Given the description of an element on the screen output the (x, y) to click on. 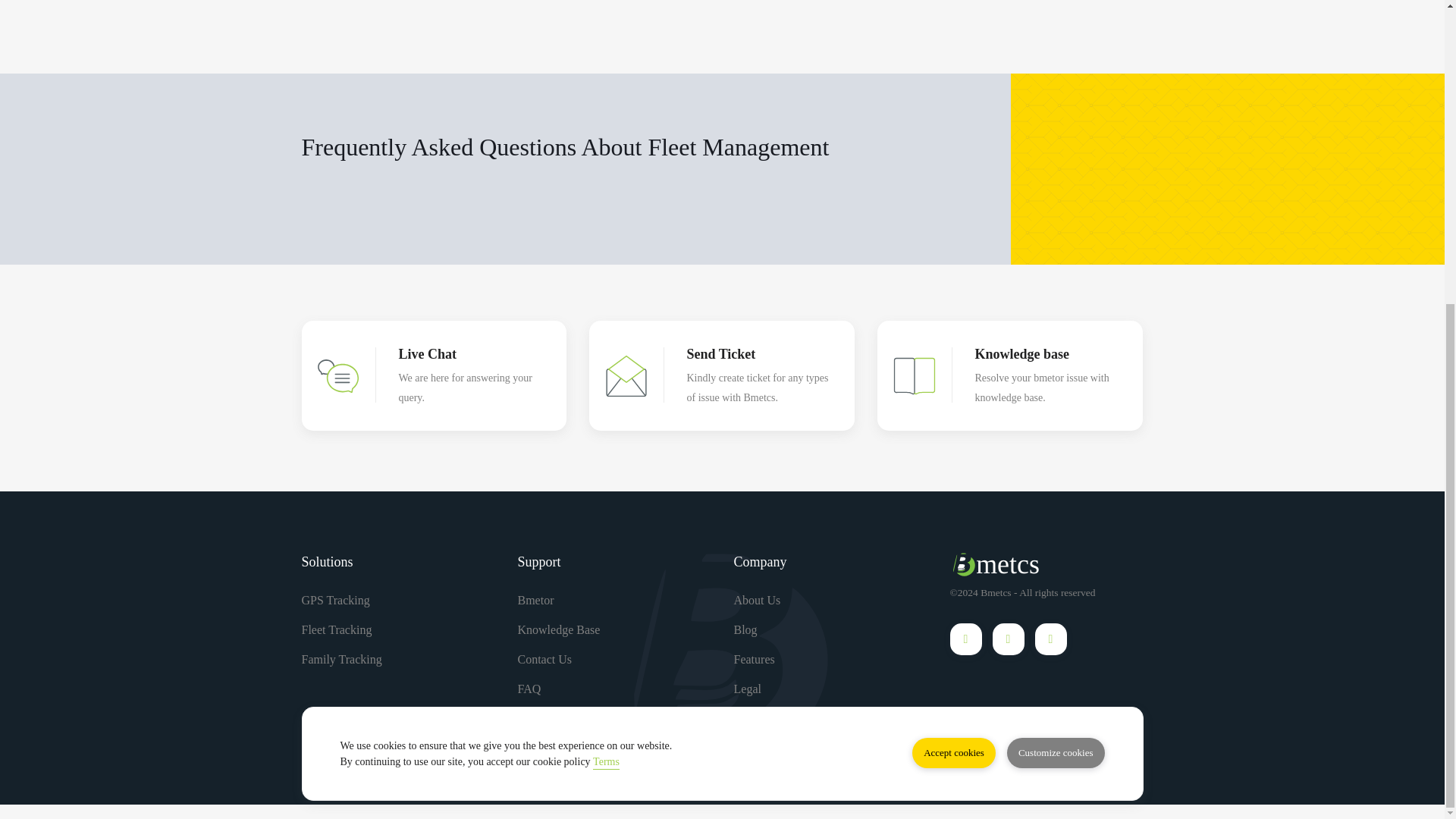
SUBSCRIBE (877, 739)
